Given the description of an element on the screen output the (x, y) to click on. 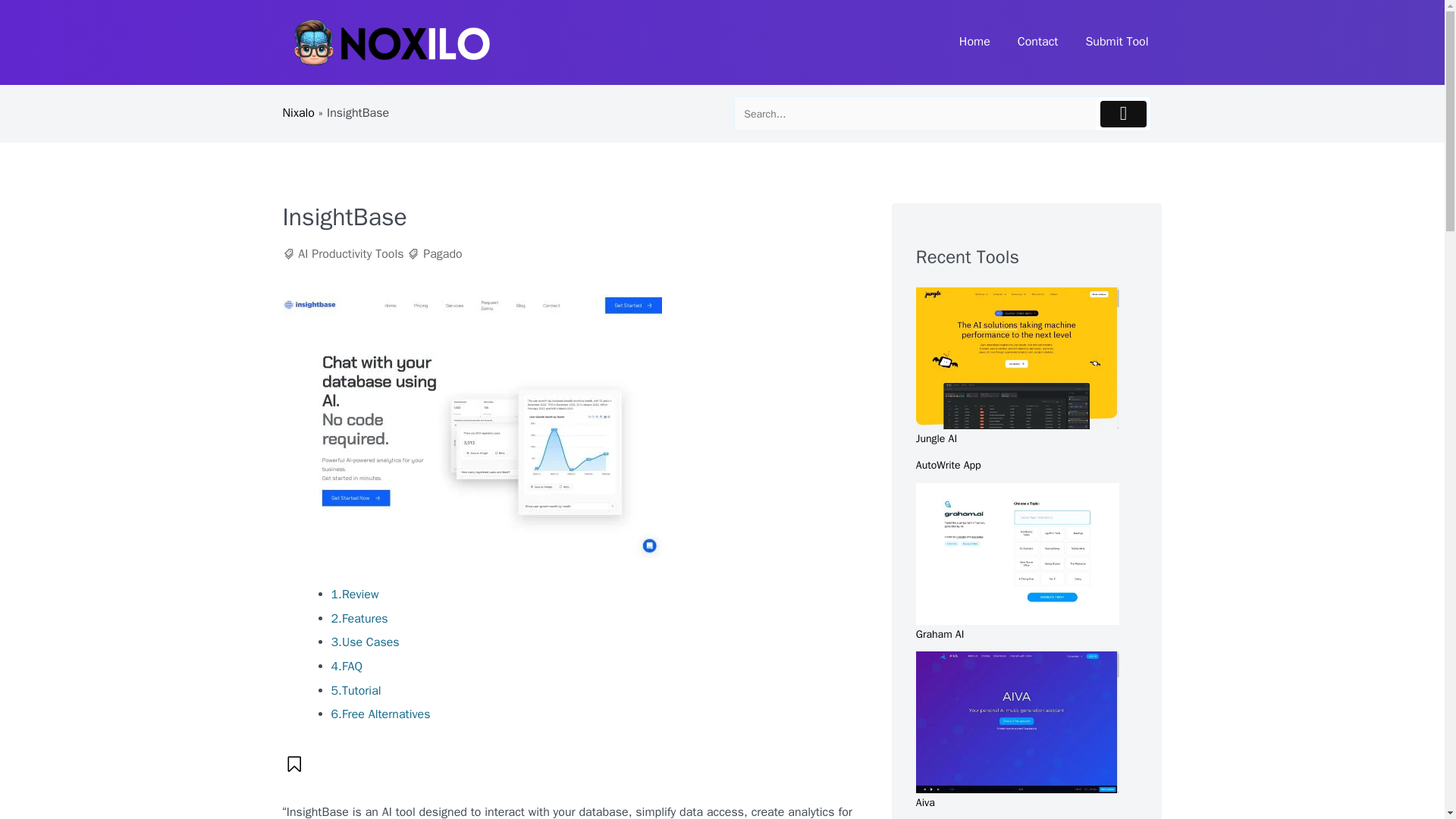
1.Review (354, 594)
Home (974, 42)
3.Use Cases (364, 642)
Pagado (442, 254)
5.Tutorial (355, 690)
4.FAQ (346, 666)
Submit Tool (1116, 42)
Submit (1123, 113)
Contact (1038, 42)
Jungle AI (935, 438)
2.Features (358, 618)
Noxilo (314, 91)
Bookmark This (294, 763)
Search (914, 114)
